Given the description of an element on the screen output the (x, y) to click on. 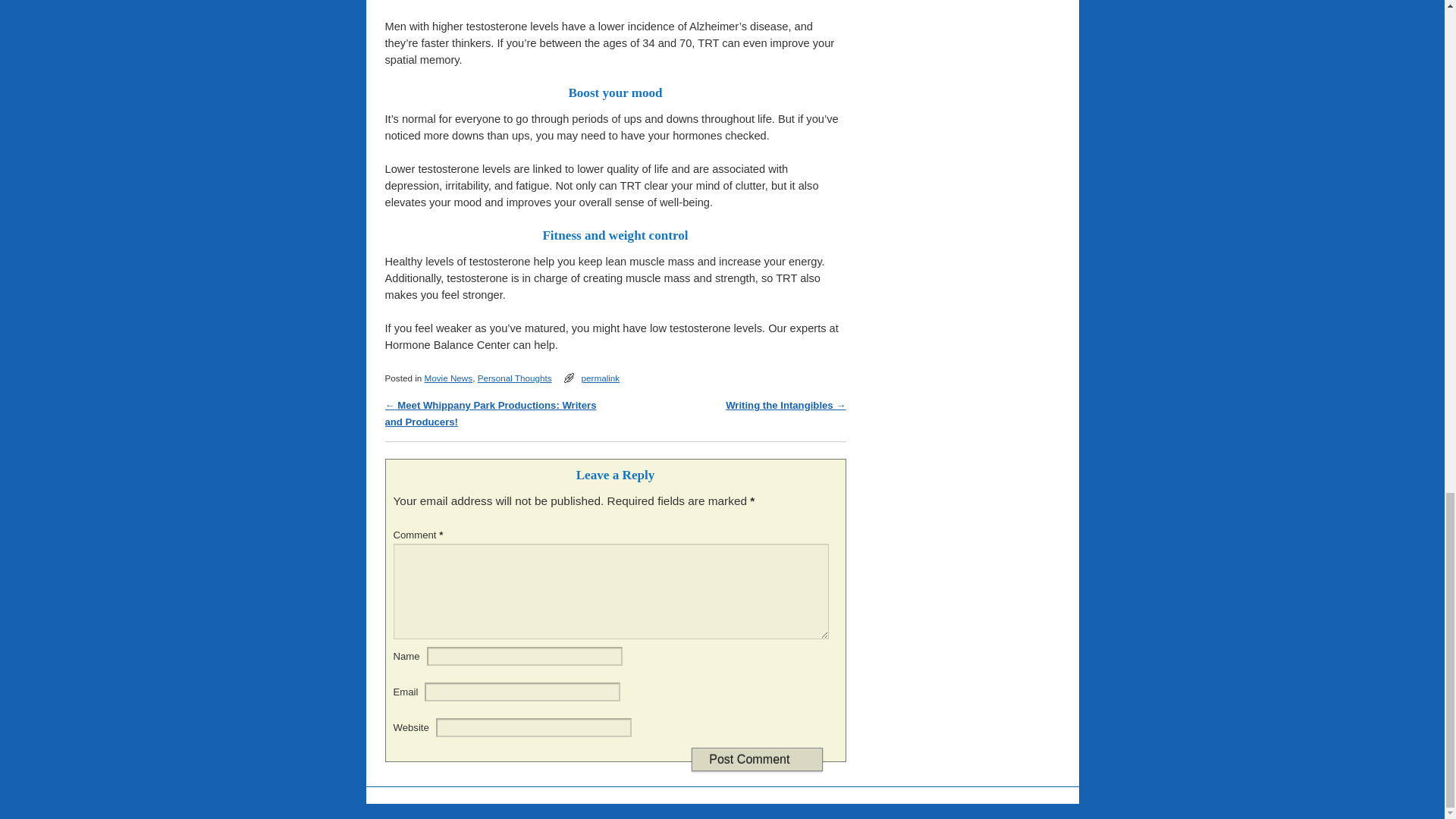
Movie News (447, 378)
Post Comment (756, 759)
Personal Thoughts (514, 378)
permalink (600, 378)
Post Comment (756, 759)
Permalink to Forward On-Line (600, 378)
